Given the description of an element on the screen output the (x, y) to click on. 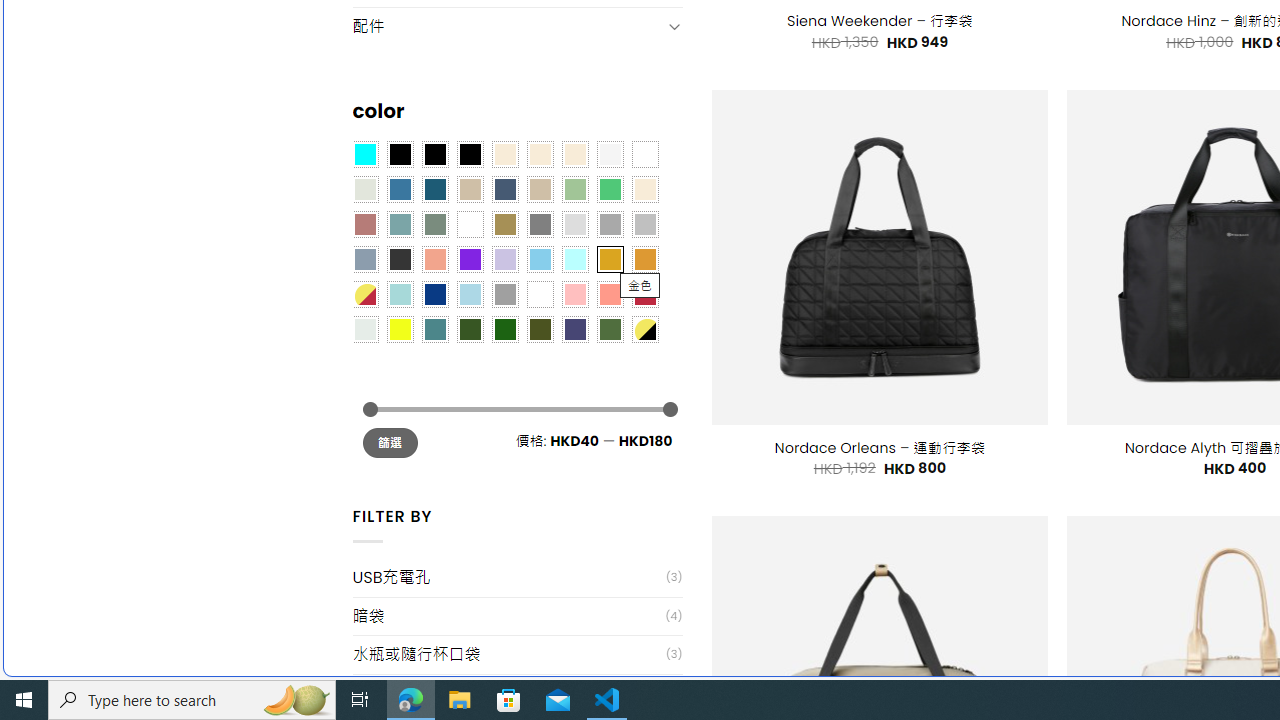
Cream (574, 154)
